Given the description of an element on the screen output the (x, y) to click on. 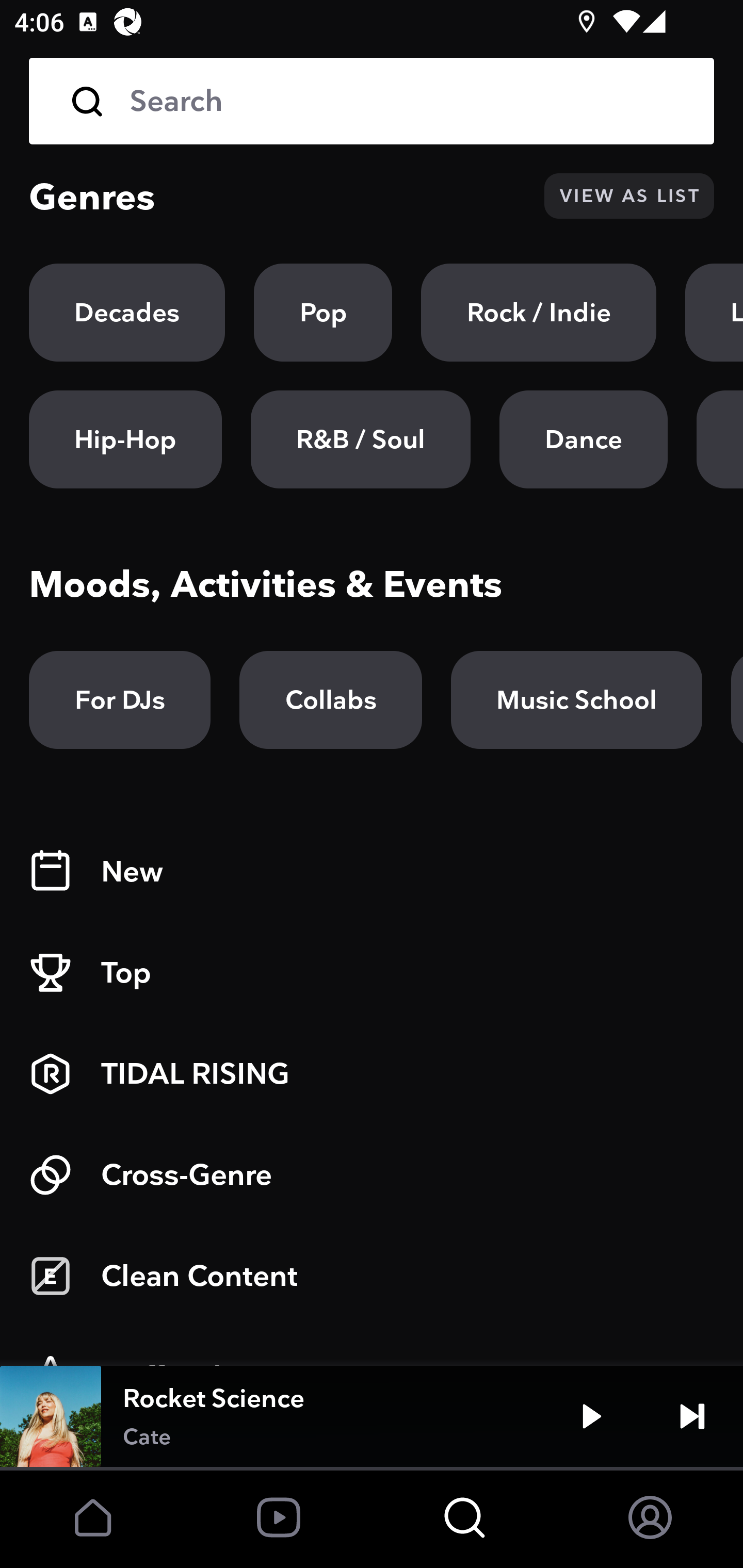
Search (371, 101)
Search (407, 100)
VIEW AS LIST (629, 195)
Decades (126, 312)
Pop (323, 312)
Rock / Indie (538, 312)
Hip-Hop (125, 439)
R&B / Soul (360, 439)
Dance (583, 439)
For DJs (119, 699)
Collabs (330, 699)
Music School (576, 699)
New (371, 871)
Top (371, 972)
TIDAL RISING (371, 1073)
Cross-Genre (371, 1175)
Clean Content (371, 1276)
Rocket Science Cate Play (371, 1416)
Play (590, 1416)
